Given the description of an element on the screen output the (x, y) to click on. 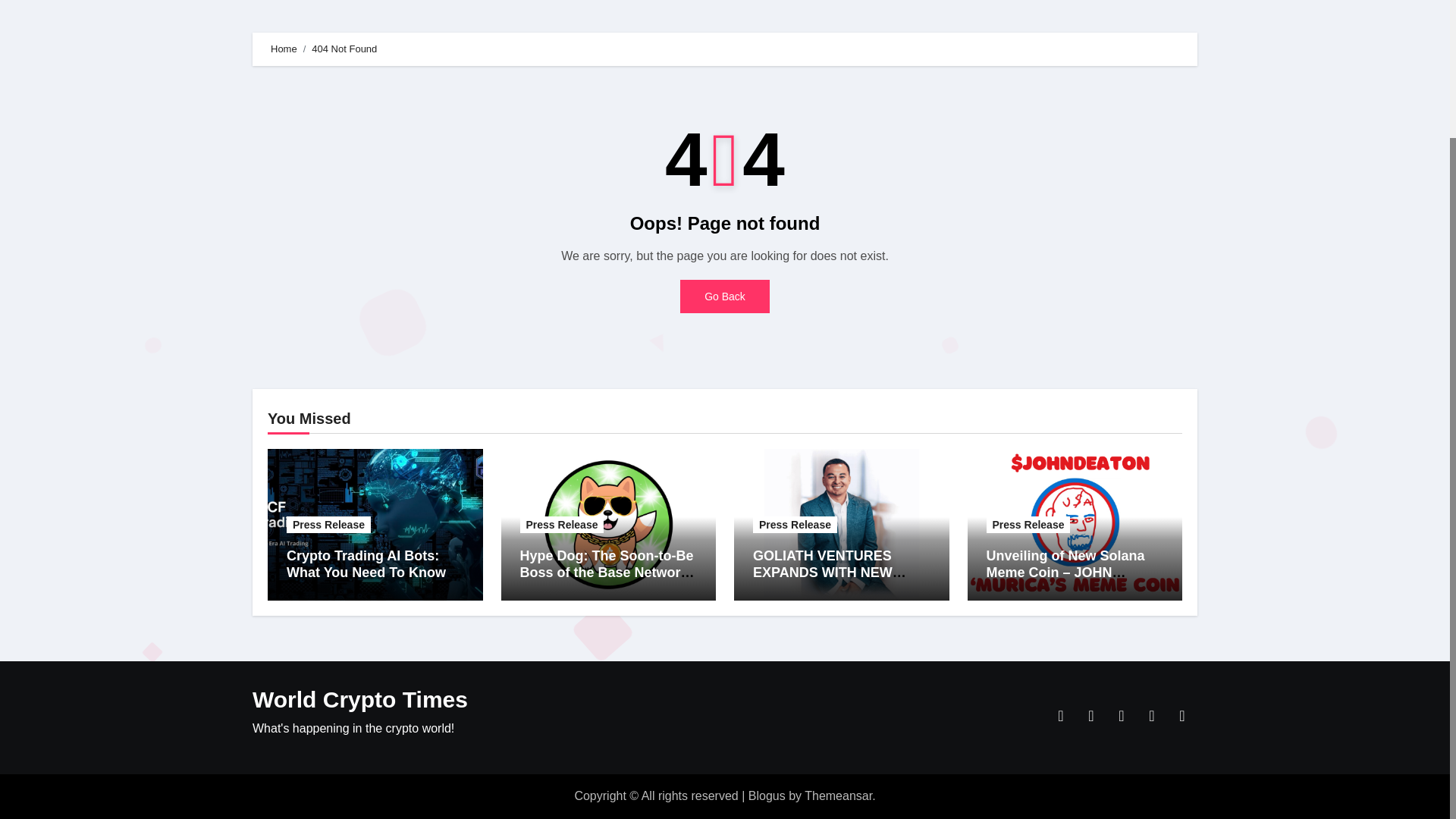
Blogus (767, 795)
Home (283, 48)
Press Release (794, 524)
Go Back (724, 296)
Press Release (561, 524)
World Crypto Times (359, 699)
Themeansar (838, 795)
Press Release (1027, 524)
Press Release (328, 524)
